Given the description of an element on the screen output the (x, y) to click on. 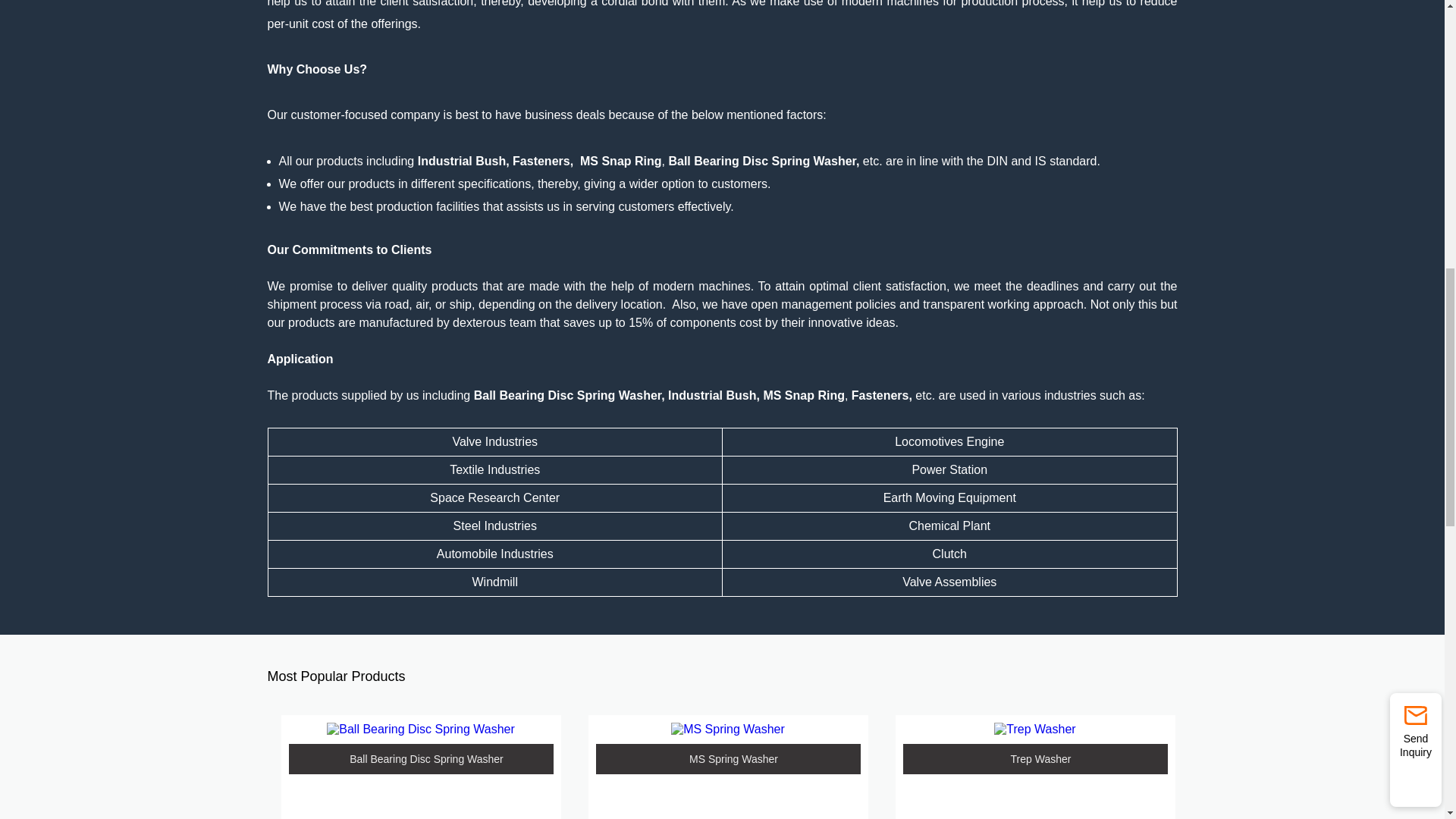
Trep Washer (1034, 729)
Ball Bearing Disc Spring Washer (420, 729)
MS Spring Washer (727, 729)
